Given the description of an element on the screen output the (x, y) to click on. 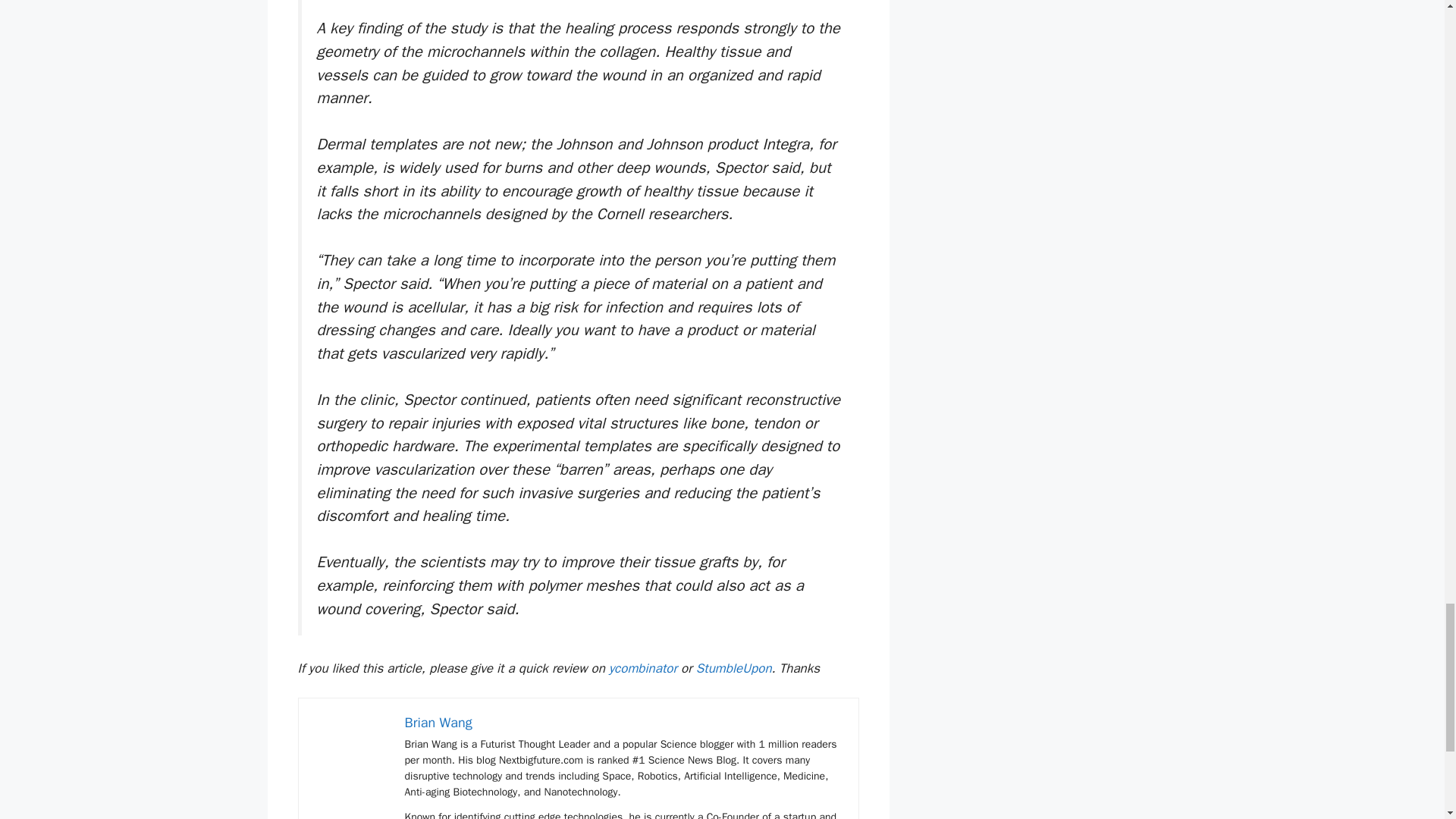
ycombinator (642, 668)
StumbleUpon (733, 668)
Brian Wang (437, 722)
